Given the description of an element on the screen output the (x, y) to click on. 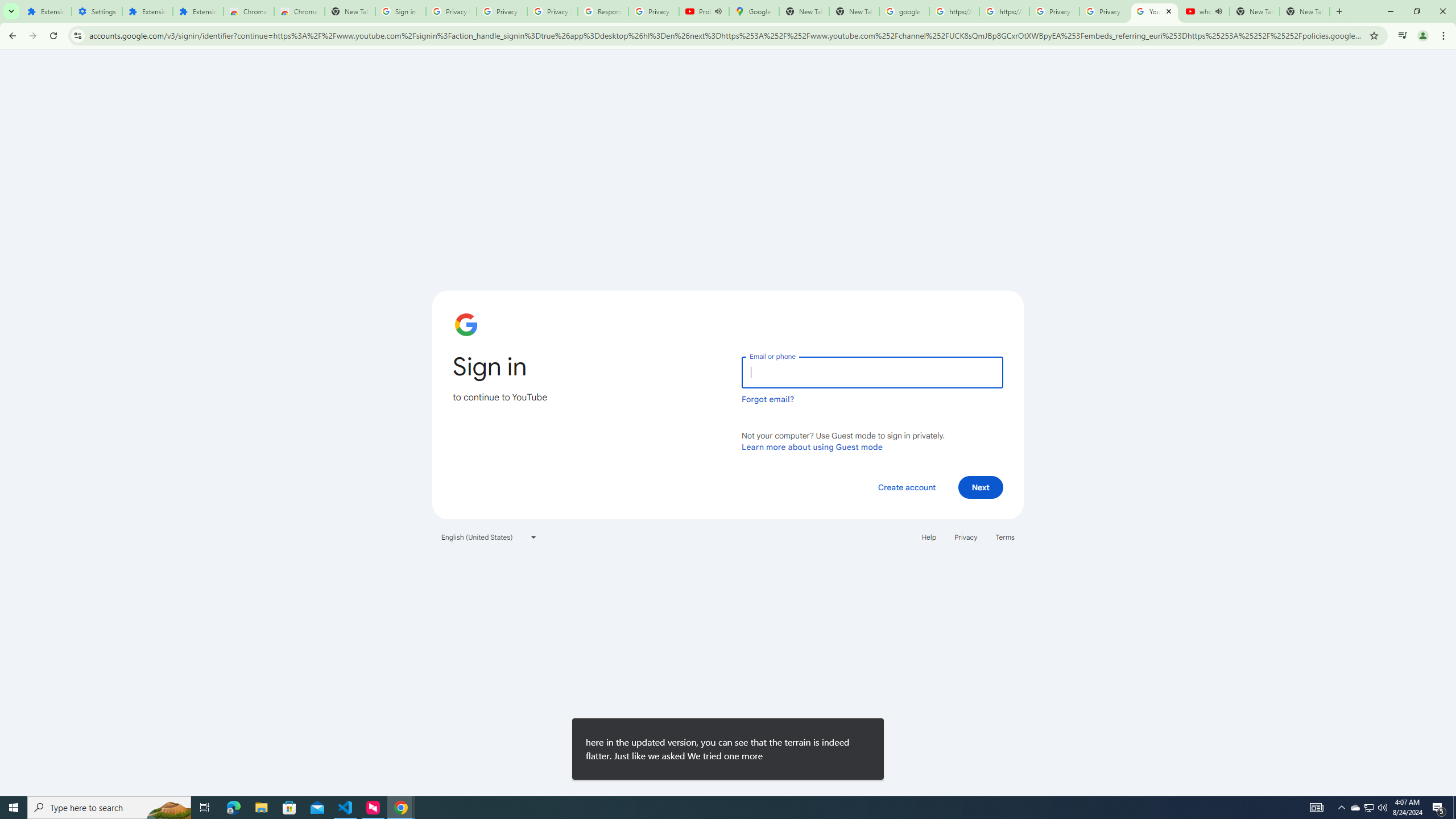
English (United States) (489, 536)
https://scholar.google.com/ (954, 11)
Create account (905, 486)
Email or phone (871, 372)
New Tab (1304, 11)
New Tab (350, 11)
